Given the description of an element on the screen output the (x, y) to click on. 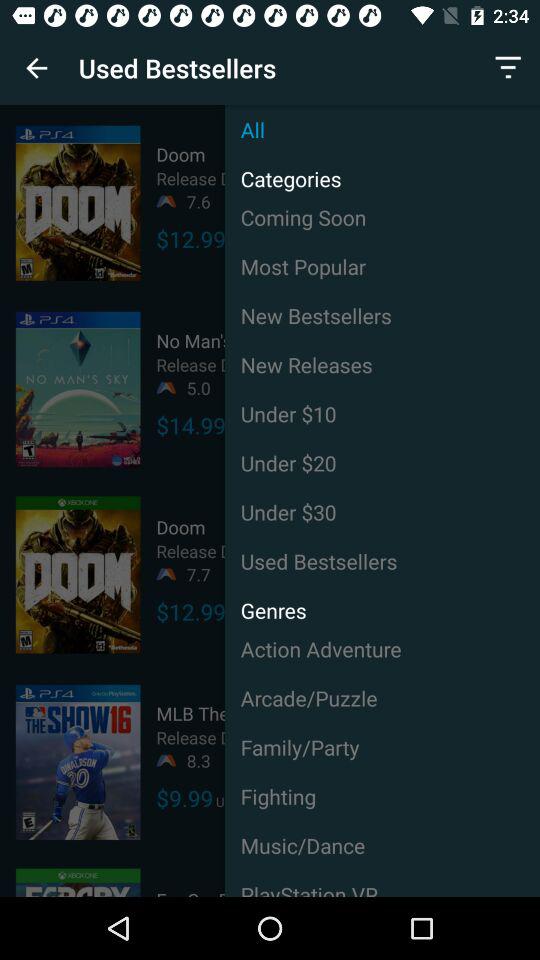
open item to the right of the 5.0 item (382, 364)
